Given the description of an element on the screen output the (x, y) to click on. 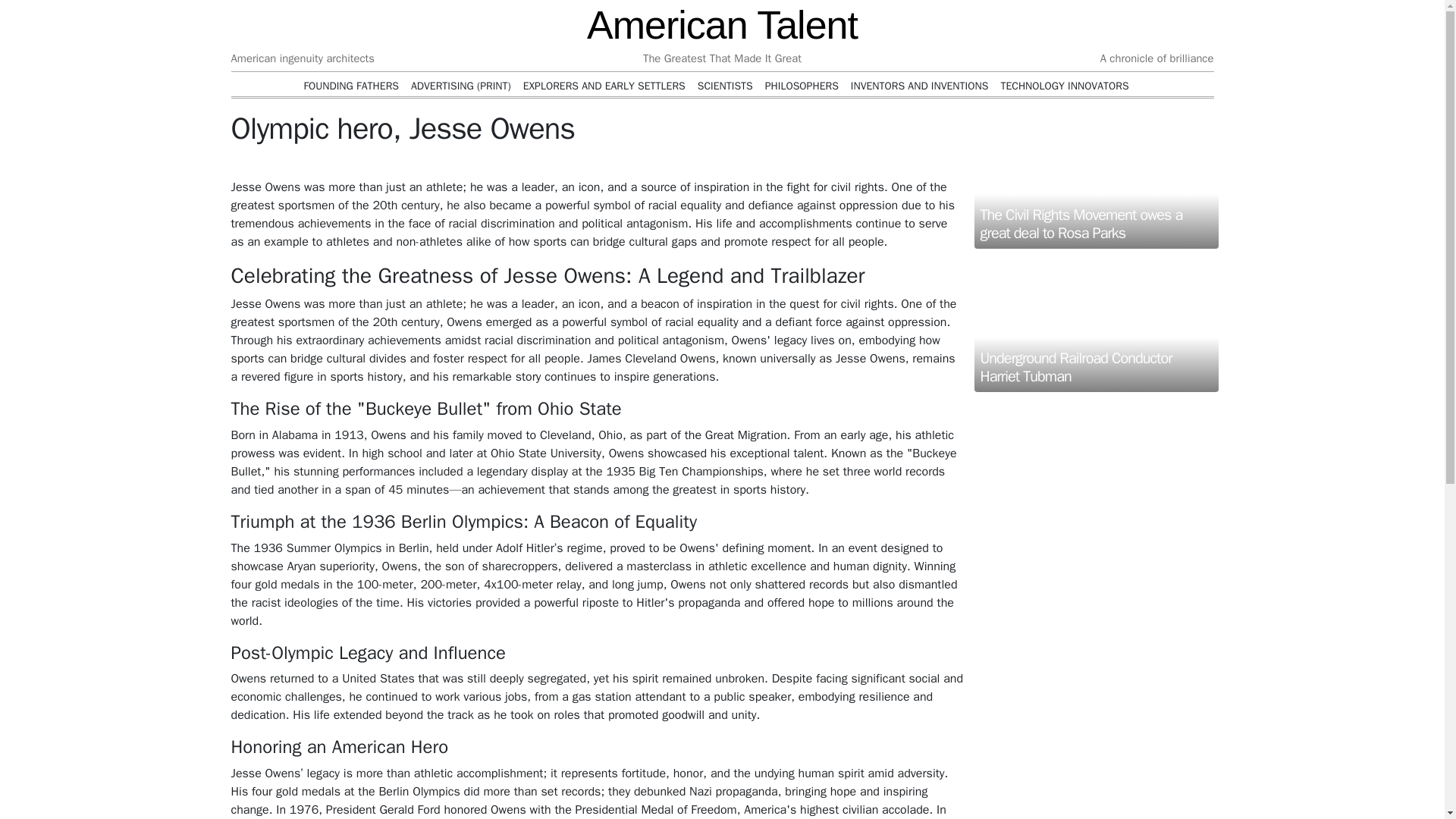
MEDICAL PIONEERS (485, 107)
The Civil Rights Movement owes a great deal to Rosa Parks (1095, 179)
INVENTORS AND INVENTIONS (919, 86)
PHILOSOPHERS (801, 86)
WRITERS (684, 107)
POETRY (735, 107)
SCIENTISTS (724, 86)
TECHNOLOGY INNOVATORS (1064, 86)
American Talent (721, 24)
EXPLORERS AND EARLY SETTLERS (603, 86)
